Given the description of an element on the screen output the (x, y) to click on. 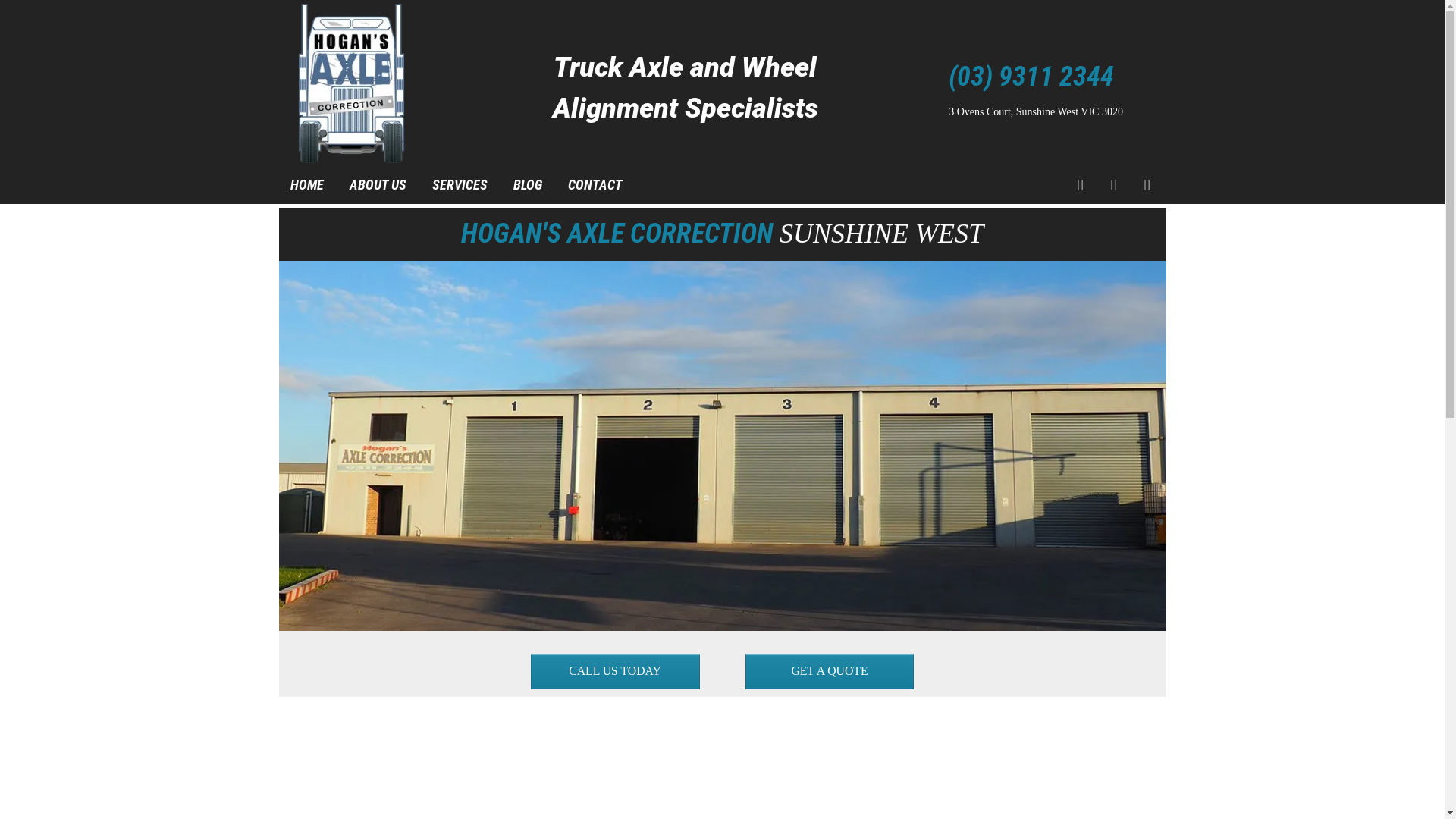
CONTACT Element type: text (594, 184)
BLOG Element type: text (526, 184)
ABOUT US Element type: text (376, 184)
HOME Element type: text (306, 184)
GET A QUOTE Element type: text (828, 671)
CALL US TODAY Element type: text (614, 671)
(03) 9311 2344   Element type: text (1037, 76)
SERVICES Element type: text (459, 184)
